Given the description of an element on the screen output the (x, y) to click on. 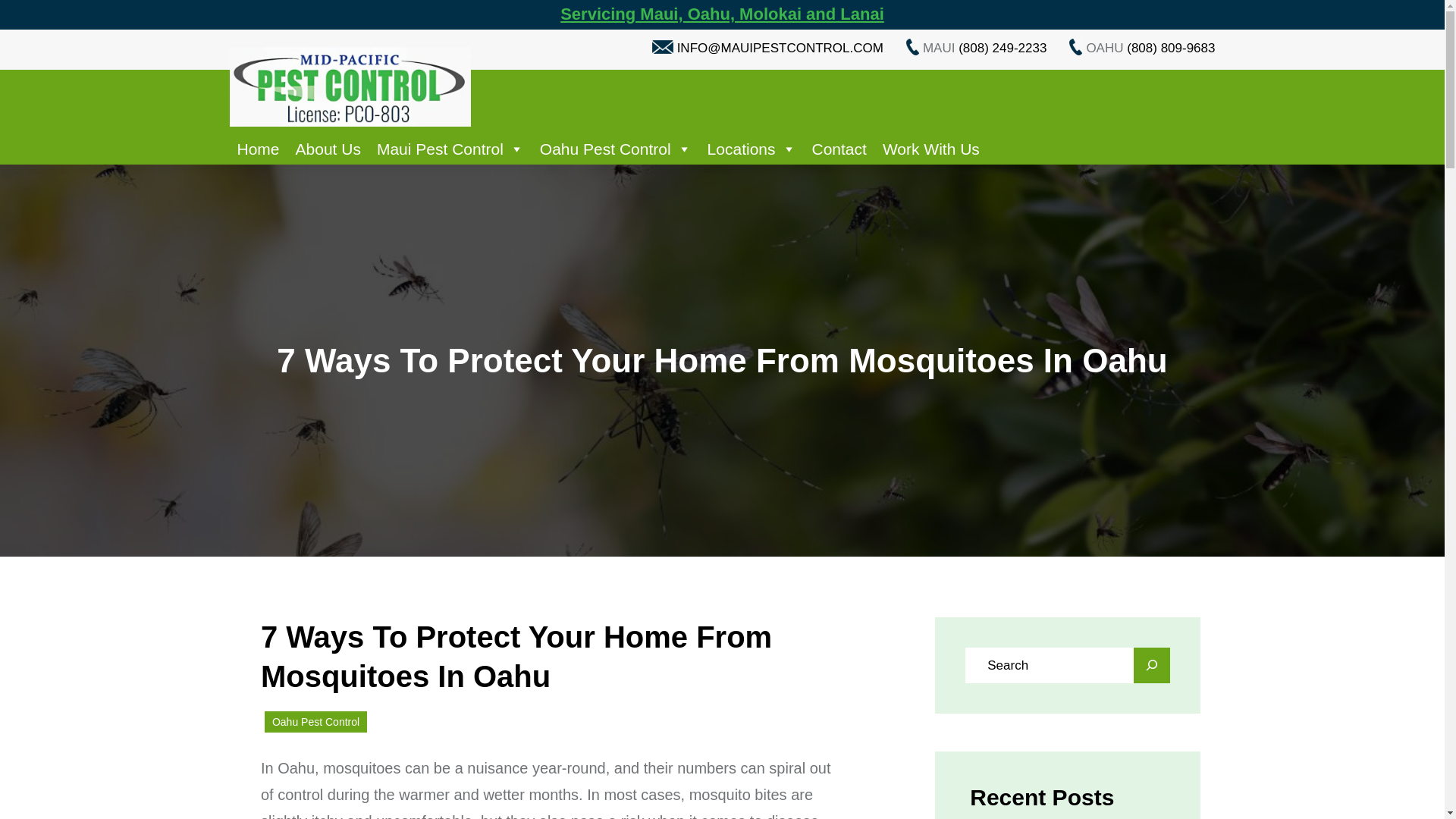
About Us (328, 149)
Maui Pest Control (450, 149)
Home (257, 149)
Oahu Pest Control (615, 149)
Locations (751, 149)
